Given the description of an element on the screen output the (x, y) to click on. 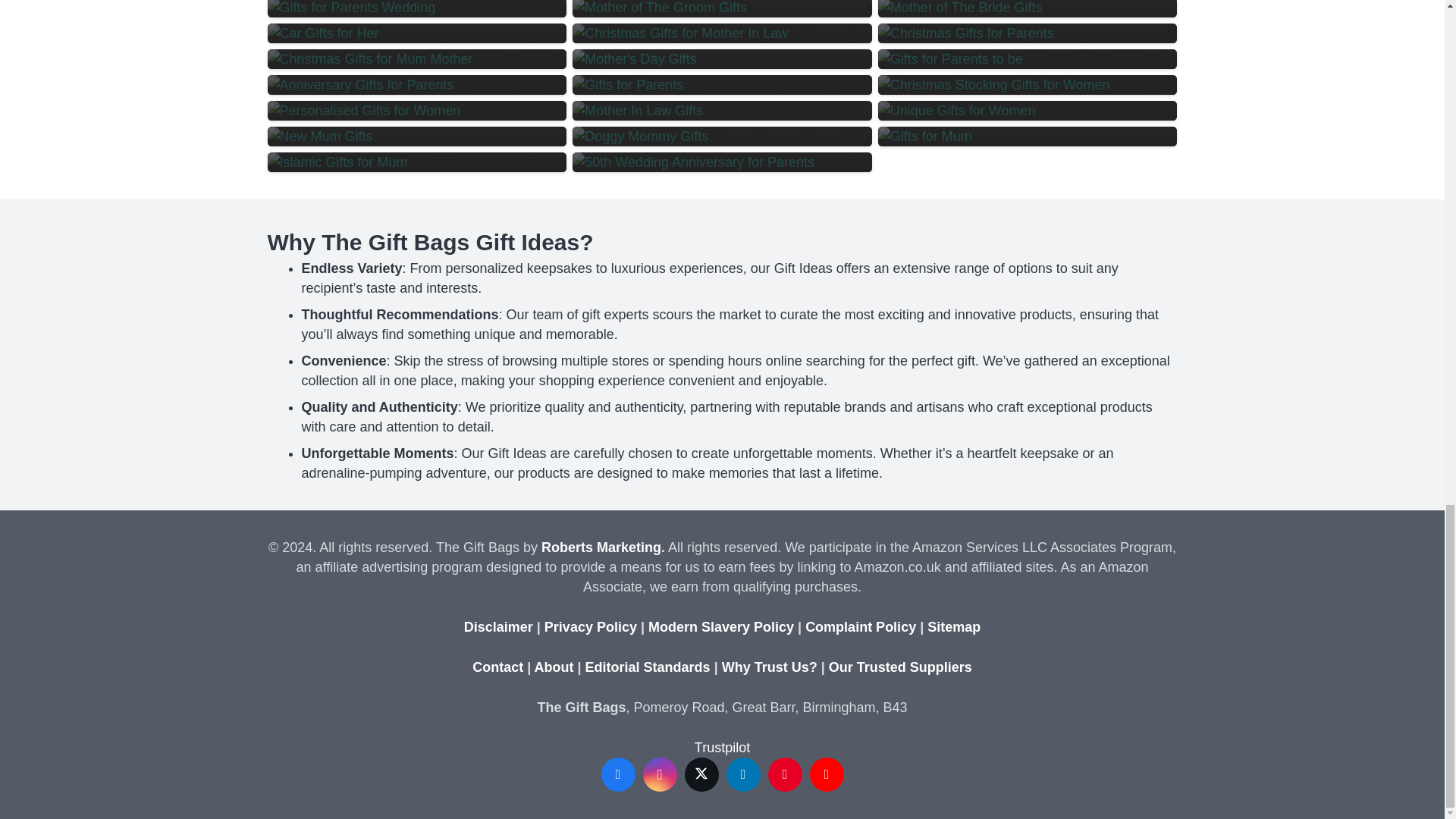
YouTube (826, 774)
Twitter (700, 774)
Pinterest (784, 774)
Facebook (616, 774)
LinkedIn (743, 774)
Instagram (660, 774)
